Given the description of an element on the screen output the (x, y) to click on. 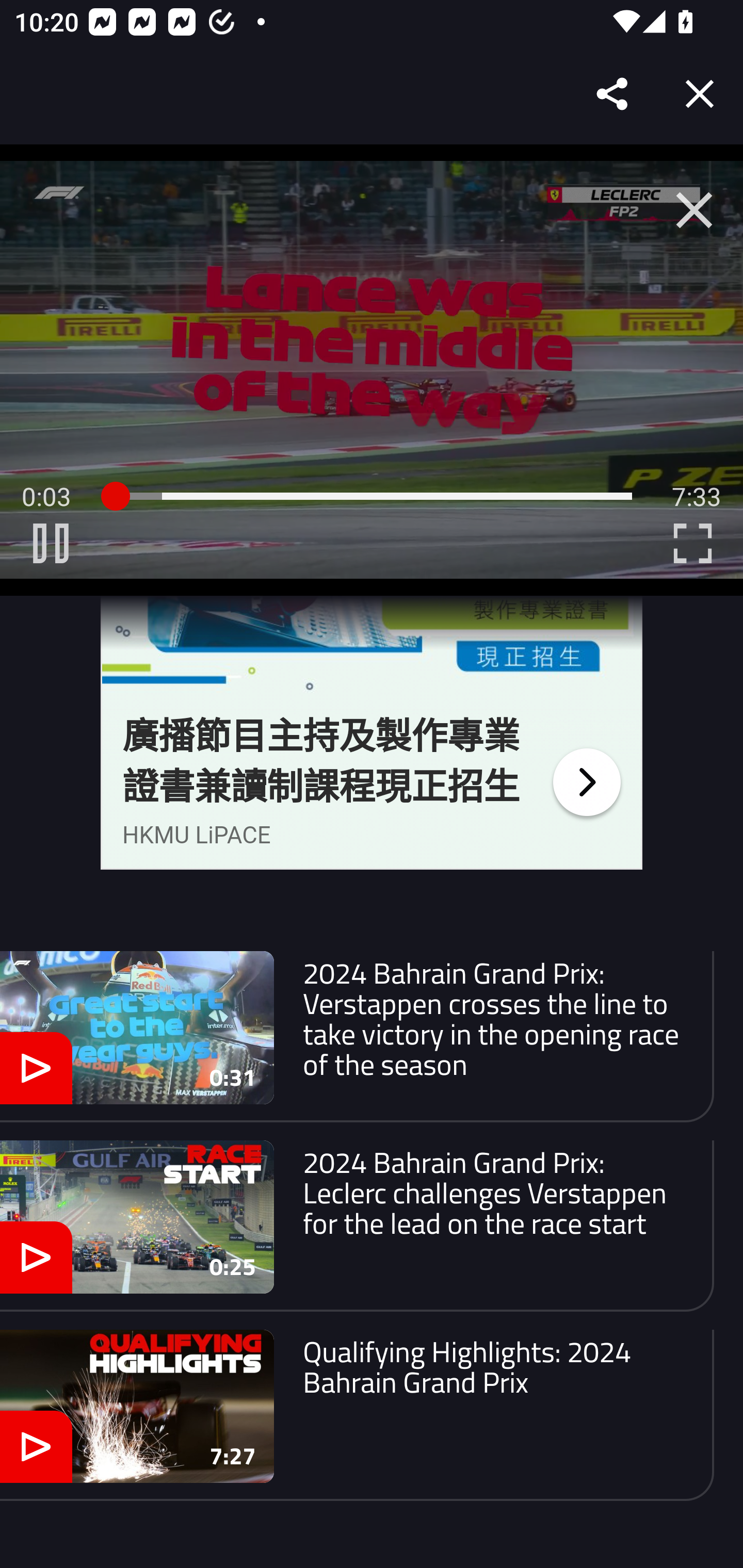
Share (612, 93)
Close (699, 93)
 Close (693, 210)
B Pause (50, 543)
C Enter Fullscreen (692, 543)
廣播節目主持及製作專業 證書兼讀制課程現正招生 廣播節目主持及製作專業 證書兼讀制課程現正招生 (321, 762)
%3Flce%3DGDN_B2023_01 (586, 781)
HKMU LiPACE (196, 834)
